Given the description of an element on the screen output the (x, y) to click on. 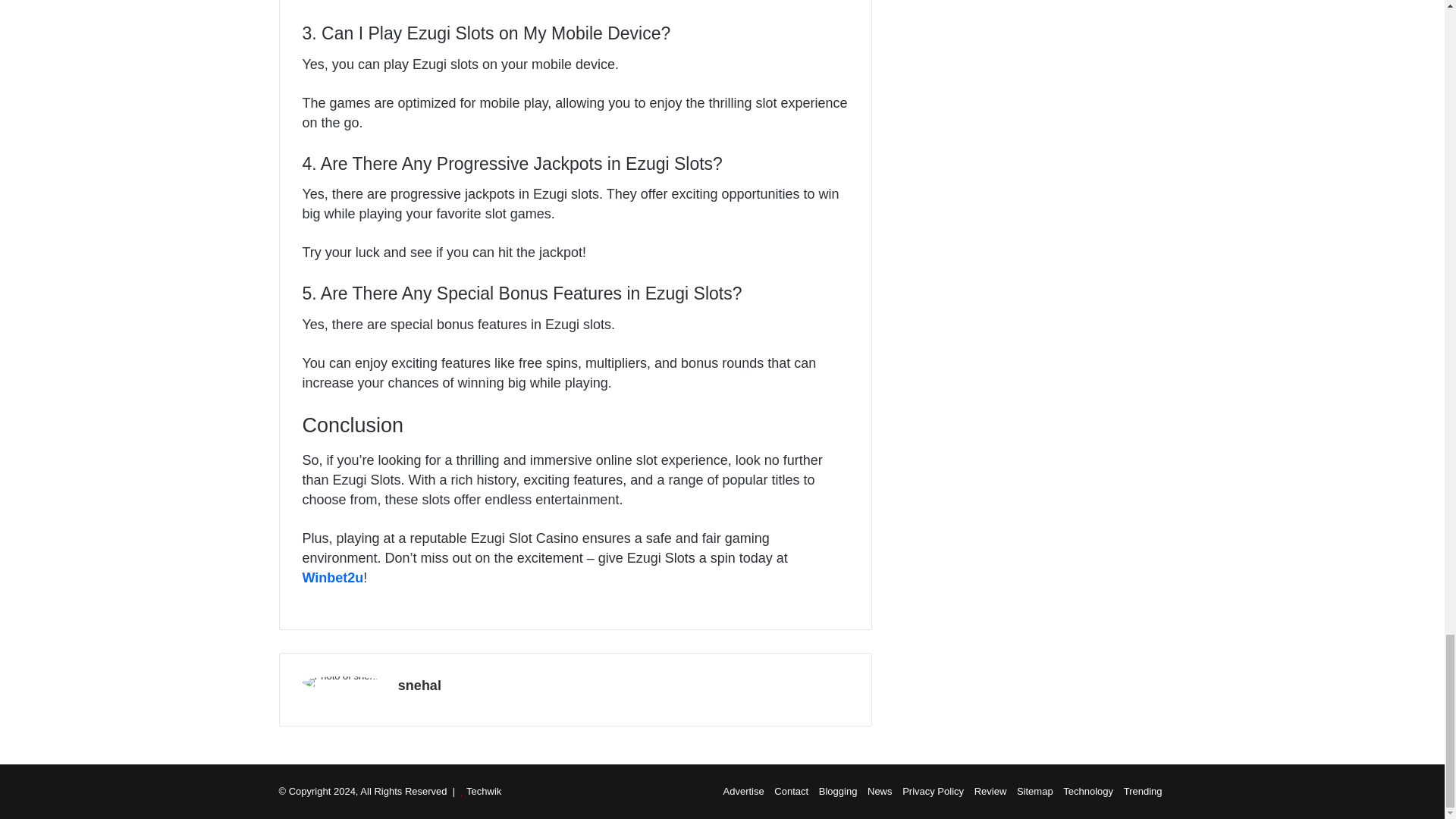
Winbet2u (331, 577)
